Given the description of an element on the screen output the (x, y) to click on. 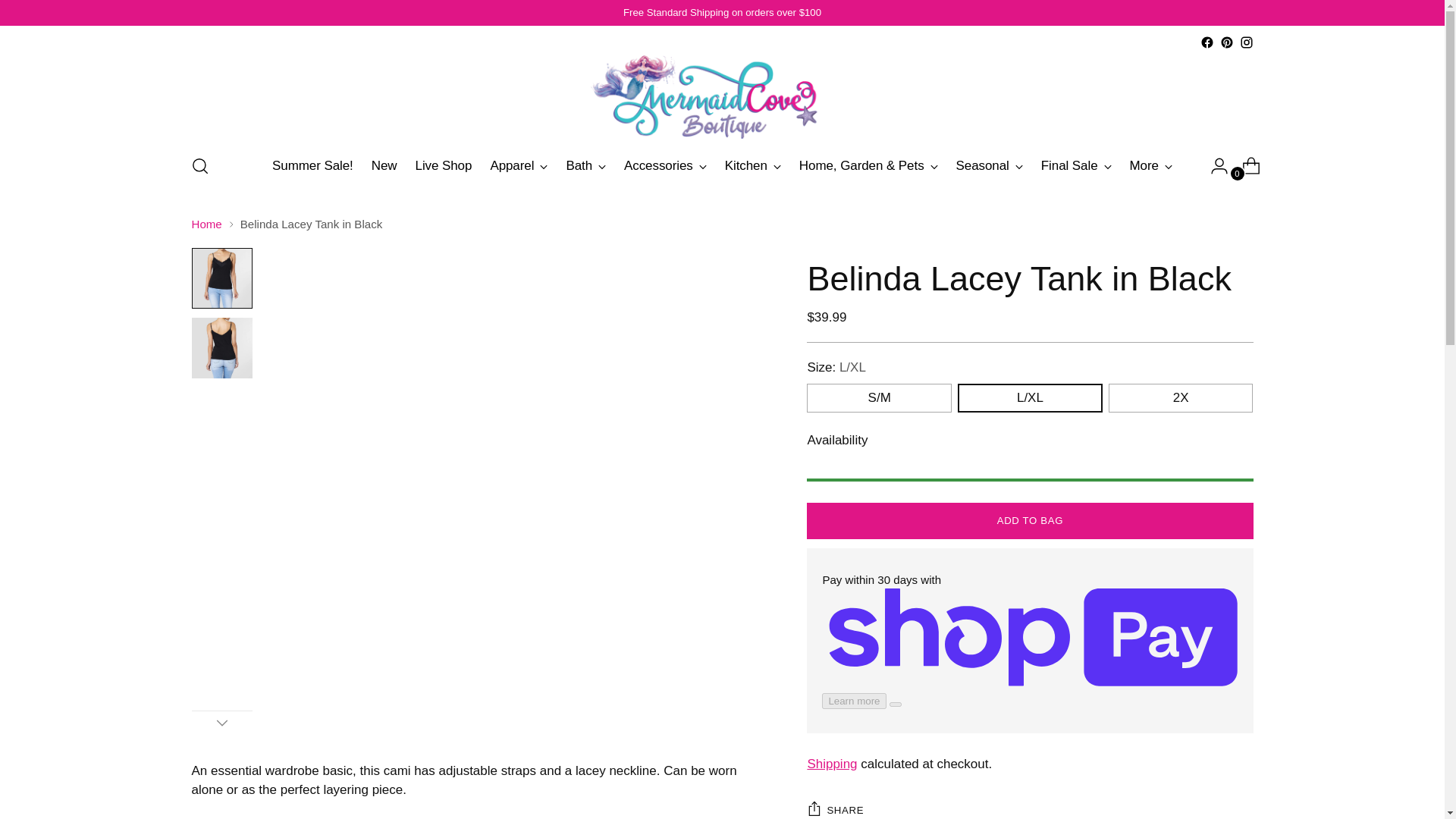
Mermaid Cove on Facebook (1205, 42)
Mermaid Cove on Instagram (1245, 42)
Apparel (518, 165)
Bath (585, 165)
Down (220, 722)
Mermaid Cove on Pinterest (1226, 42)
Live Shop (442, 165)
Summer Sale! (312, 165)
